Given the description of an element on the screen output the (x, y) to click on. 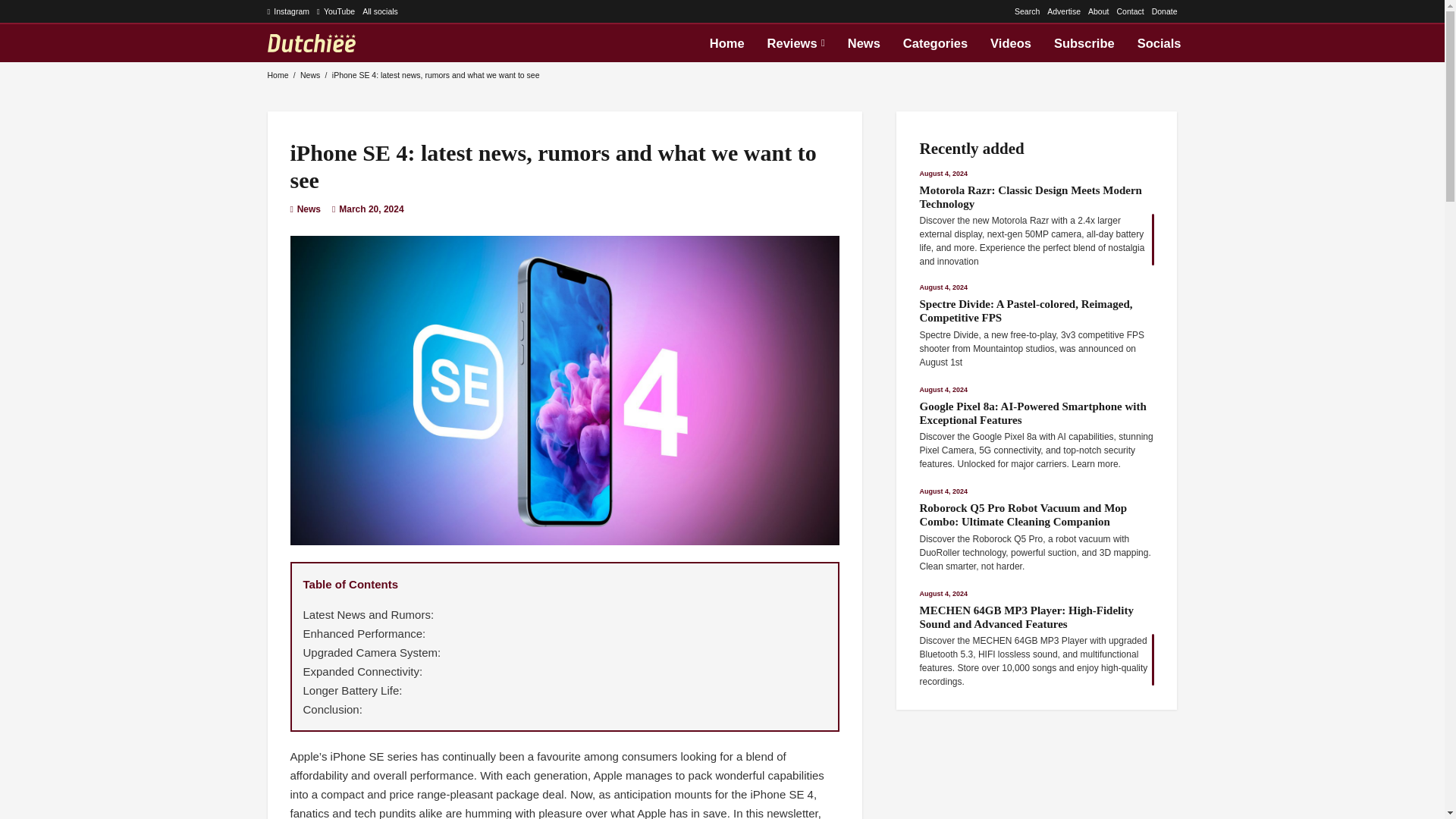
iPhone SE 4: latest news, rumors and what we want to see (435, 74)
Conclusion: (332, 708)
Upgraded Camera System: (371, 652)
All socials (379, 10)
News (863, 43)
Reviews (795, 43)
Videos (1010, 43)
Home (726, 43)
News (309, 74)
Socials (1158, 43)
